Given the description of an element on the screen output the (x, y) to click on. 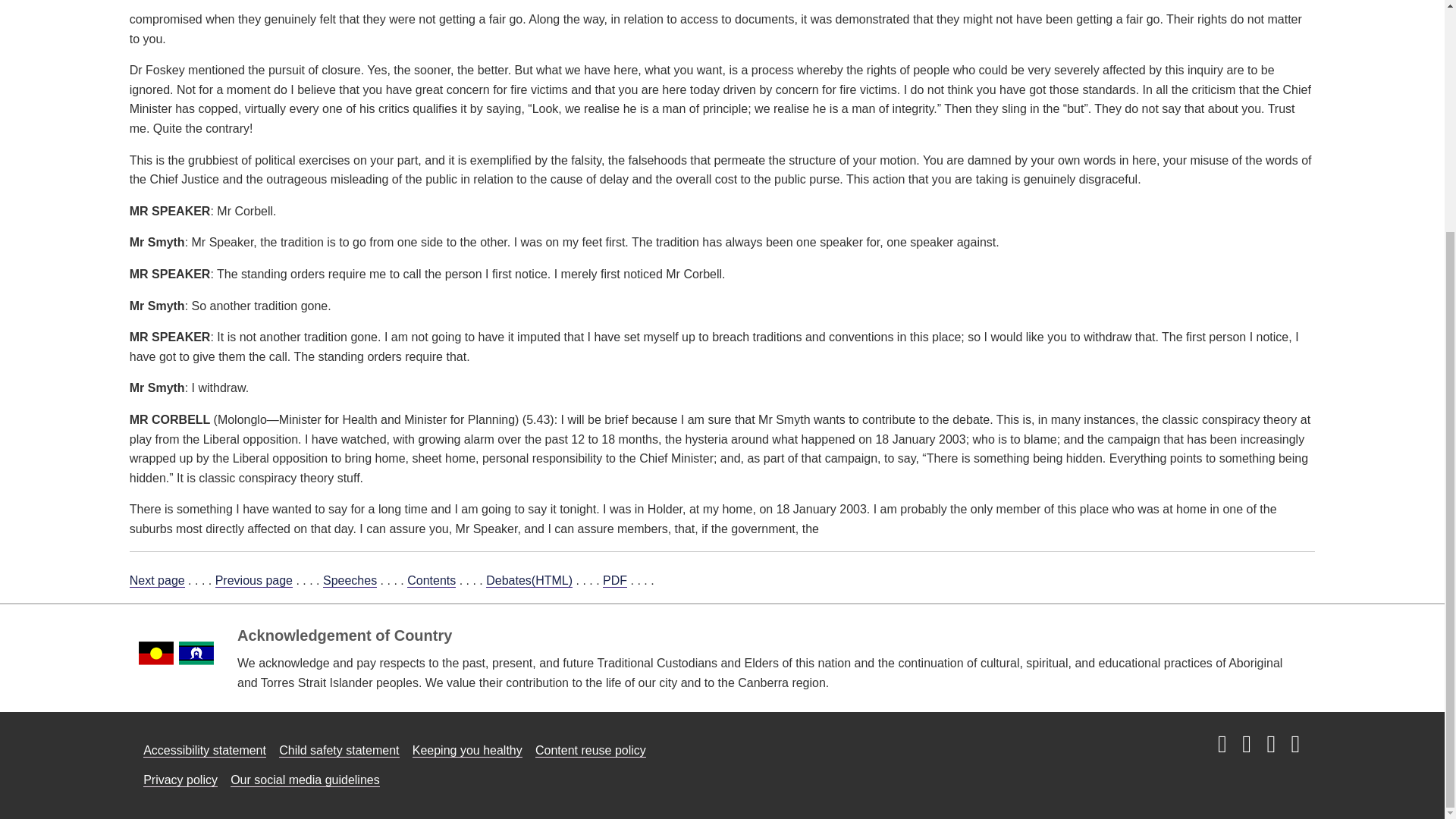
Read our privacy policy (179, 780)
Read about how we're keeping our Assembly healthy (467, 750)
Read our social media guidelines (305, 780)
Content reuse policy (590, 750)
Previous page (253, 581)
Read our access and inclusion statement (204, 750)
Speeches (350, 581)
Our social media guidelines (305, 780)
PDF (614, 581)
Accessibility statement (204, 750)
Privacy policy (179, 780)
Keeping you healthy (467, 750)
Contents (431, 581)
Next page (156, 581)
Read our child safety committment (338, 750)
